Given the description of an element on the screen output the (x, y) to click on. 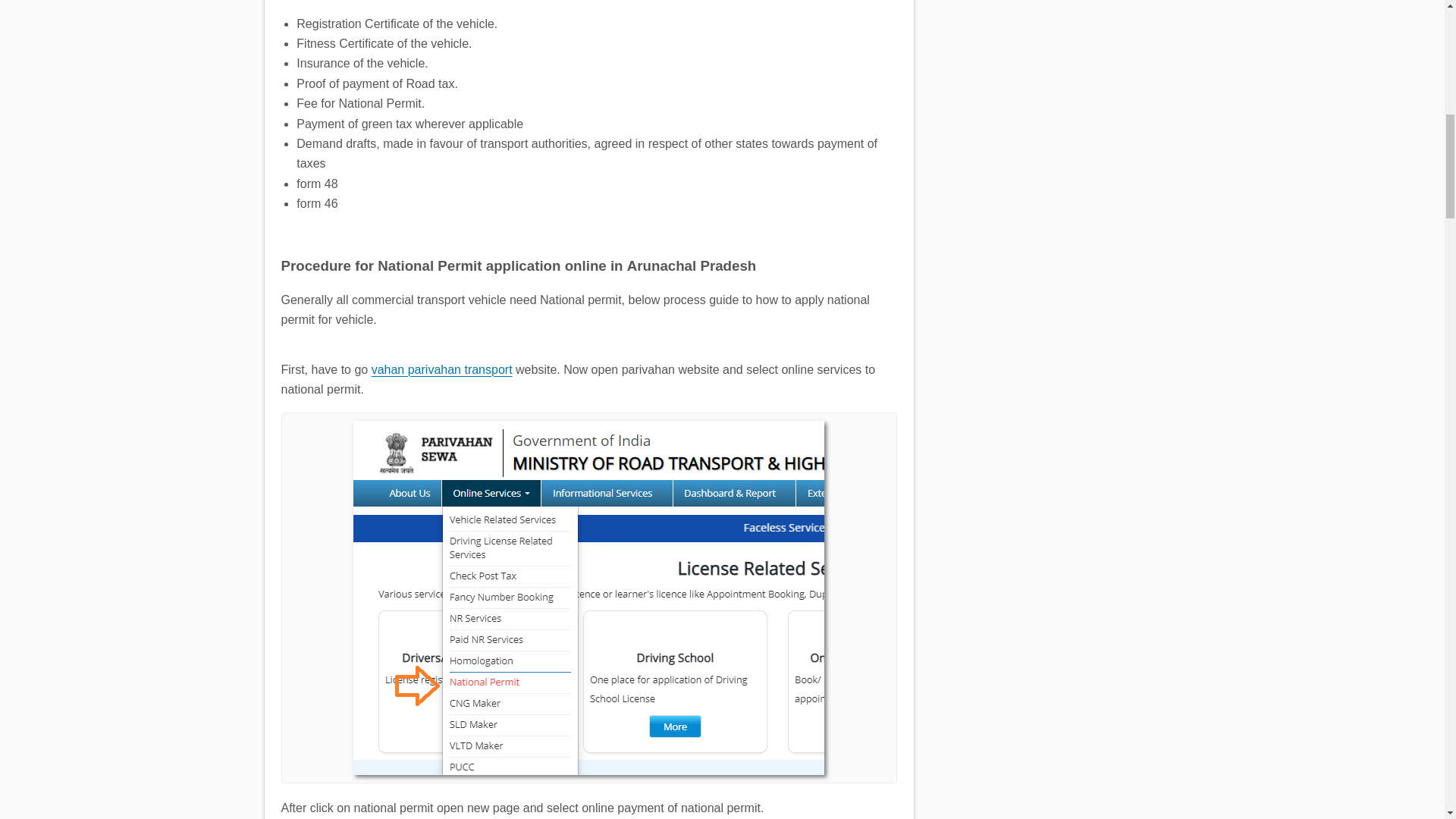
vahan parivahan transport (441, 369)
